Given the description of an element on the screen output the (x, y) to click on. 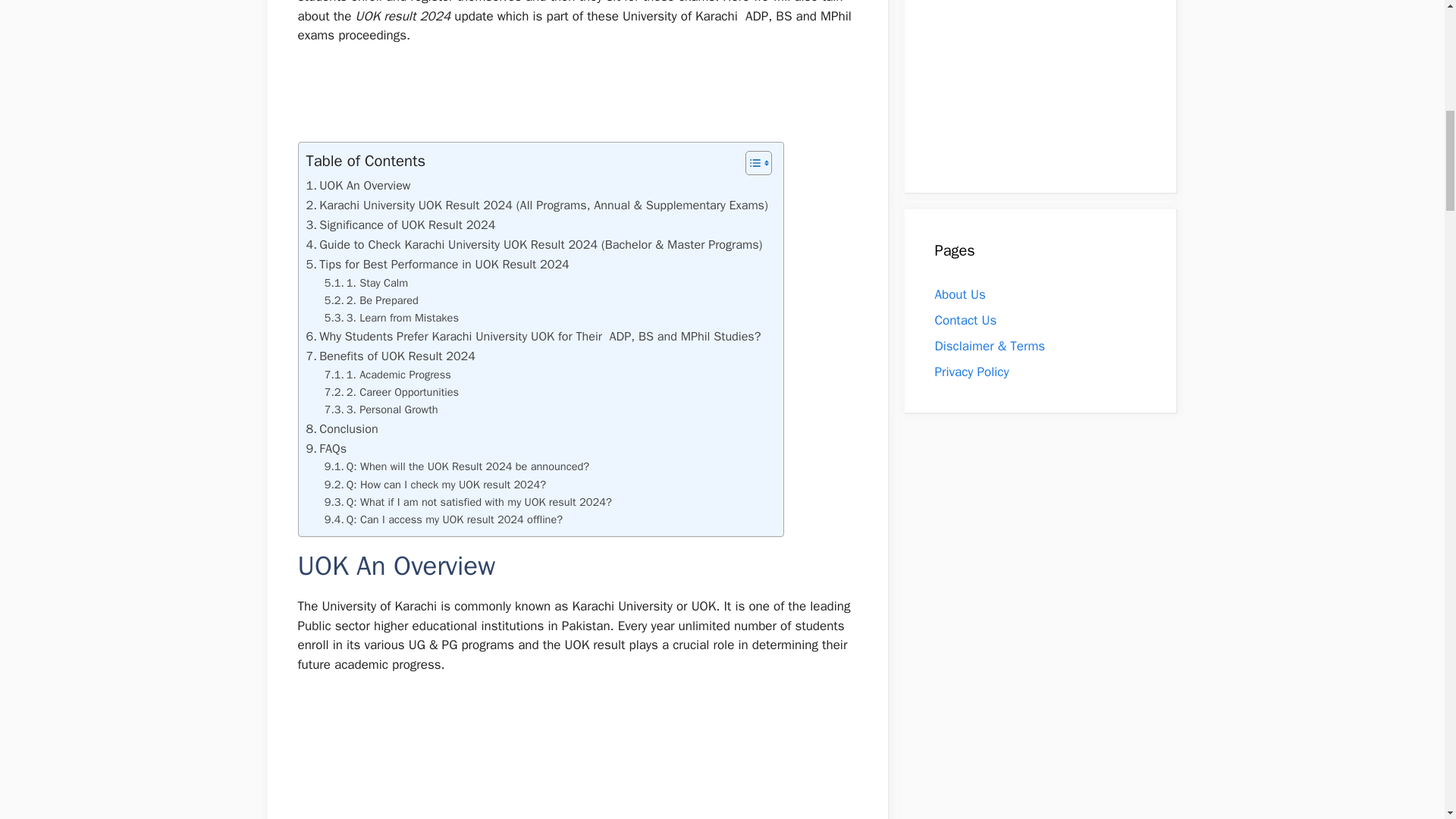
UOK An Overview (357, 185)
Benefits of UOK Result 2024 (390, 356)
3. Learn from Mistakes (391, 317)
Significance of UOK Result 2024 (400, 225)
Tips for Best Performance in UOK Result 2024 (437, 264)
1. Stay Calm (366, 282)
2. Be Prepared (371, 300)
2. Career Opportunities (391, 392)
1. Academic Progress (387, 375)
